Given the description of an element on the screen output the (x, y) to click on. 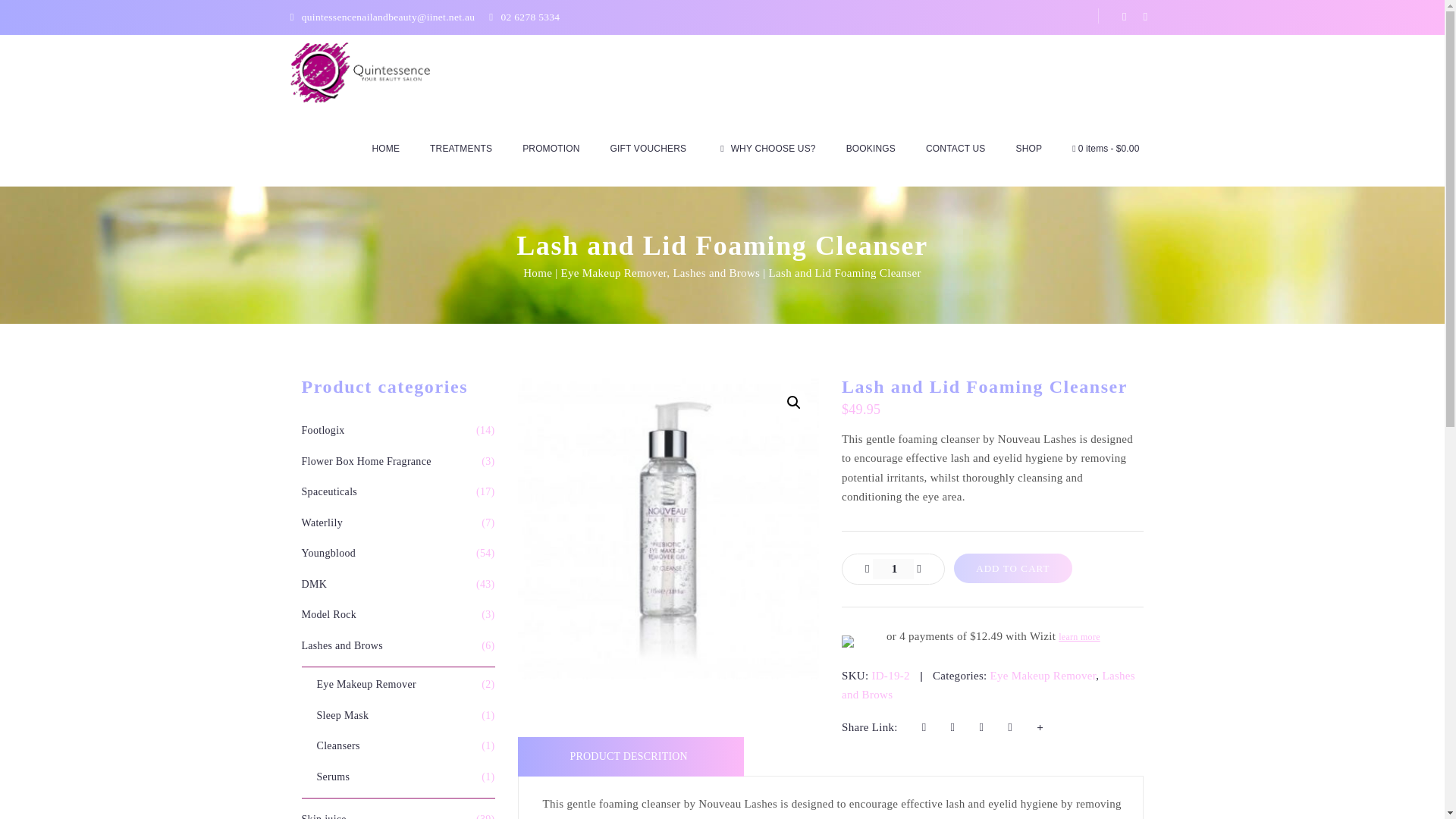
Start shopping (1105, 148)
Flower Box Home Fragrance (365, 460)
Footlogix (323, 430)
Lashes and Brows (716, 272)
Waterlily (321, 522)
Eye Makeup Remover (613, 272)
PROMOTION (550, 148)
BOOKINGS (871, 148)
GIFT VOUCHERS (648, 148)
Spaceuticals (329, 491)
TREATMENTS (460, 148)
Home (536, 272)
1 (893, 568)
WHY CHOOSE US? (766, 148)
02 6278 5334 (530, 16)
